Given the description of an element on the screen output the (x, y) to click on. 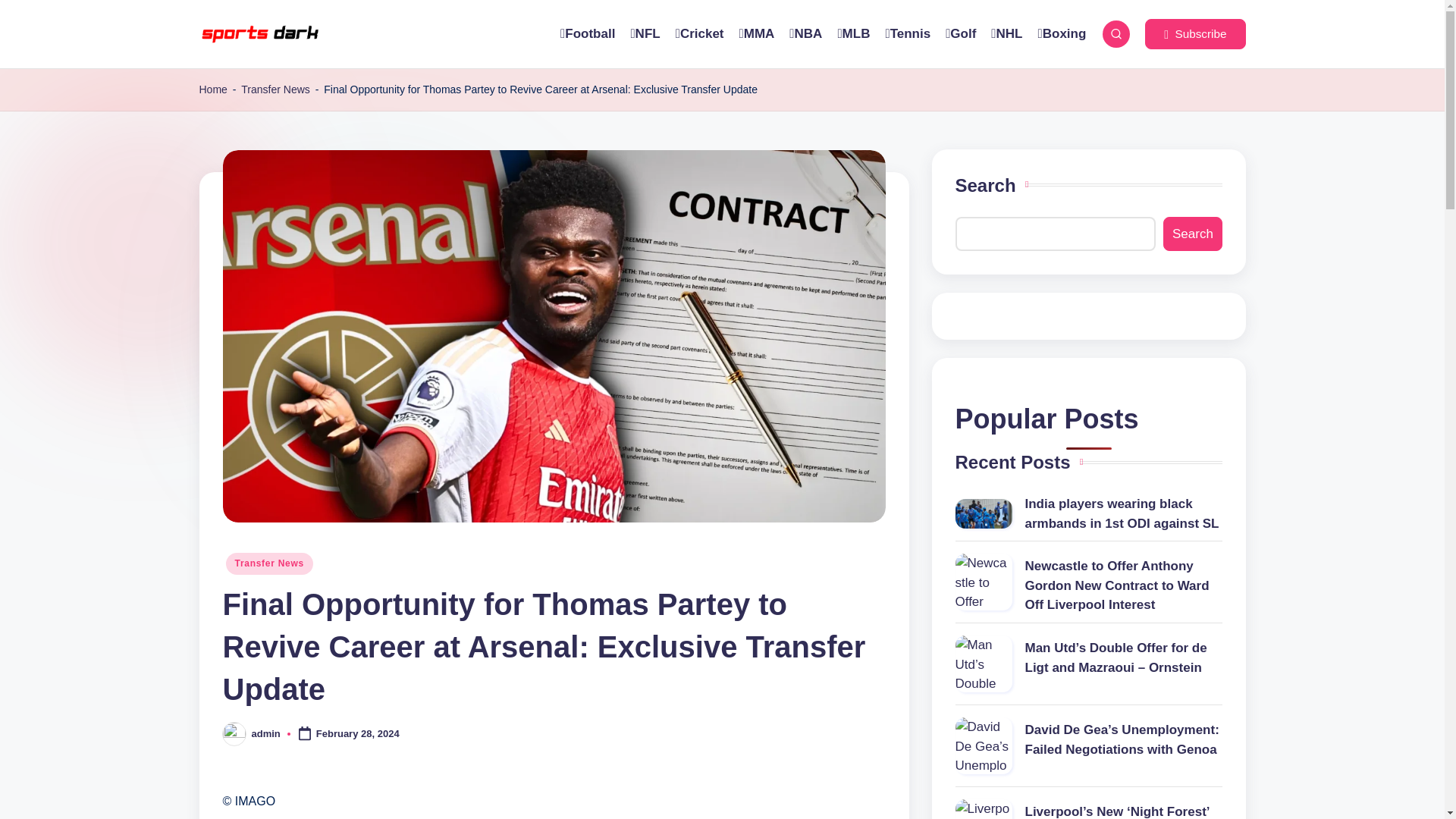
India players wearing black armbands in 1st ODI against SL (983, 513)
Search (1192, 233)
Transfer News (269, 563)
Home (212, 89)
Transfer News (275, 89)
India players wearing black armbands in 1st ODI against SL (1089, 513)
admin (266, 733)
Subscribe (1194, 33)
View all posts by admin (266, 733)
